Given the description of an element on the screen output the (x, y) to click on. 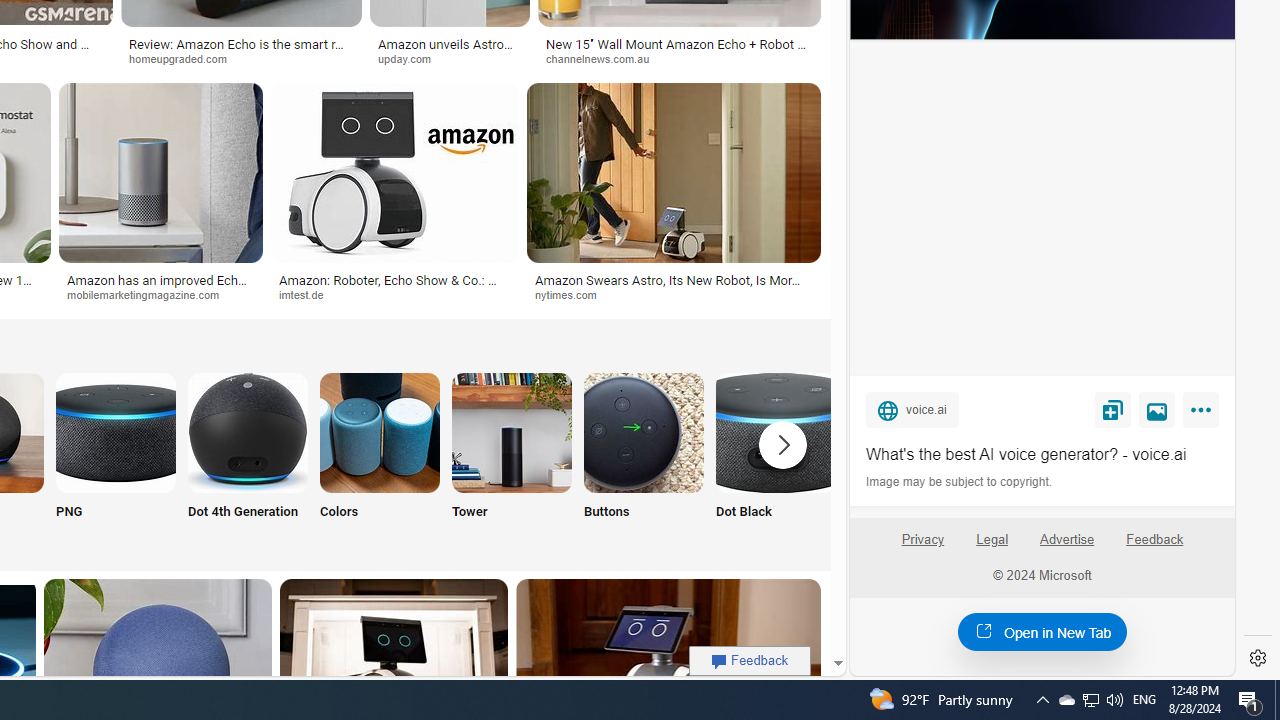
Amazon Echo Dot Black (775, 432)
Image result for Amazon Echo Robot (673, 172)
Amazon Echo Buttons (643, 432)
Privacy (922, 539)
homeupgraded.com (184, 57)
PNG (116, 457)
Amazon Echo PNG (116, 432)
